Given the description of an element on the screen output the (x, y) to click on. 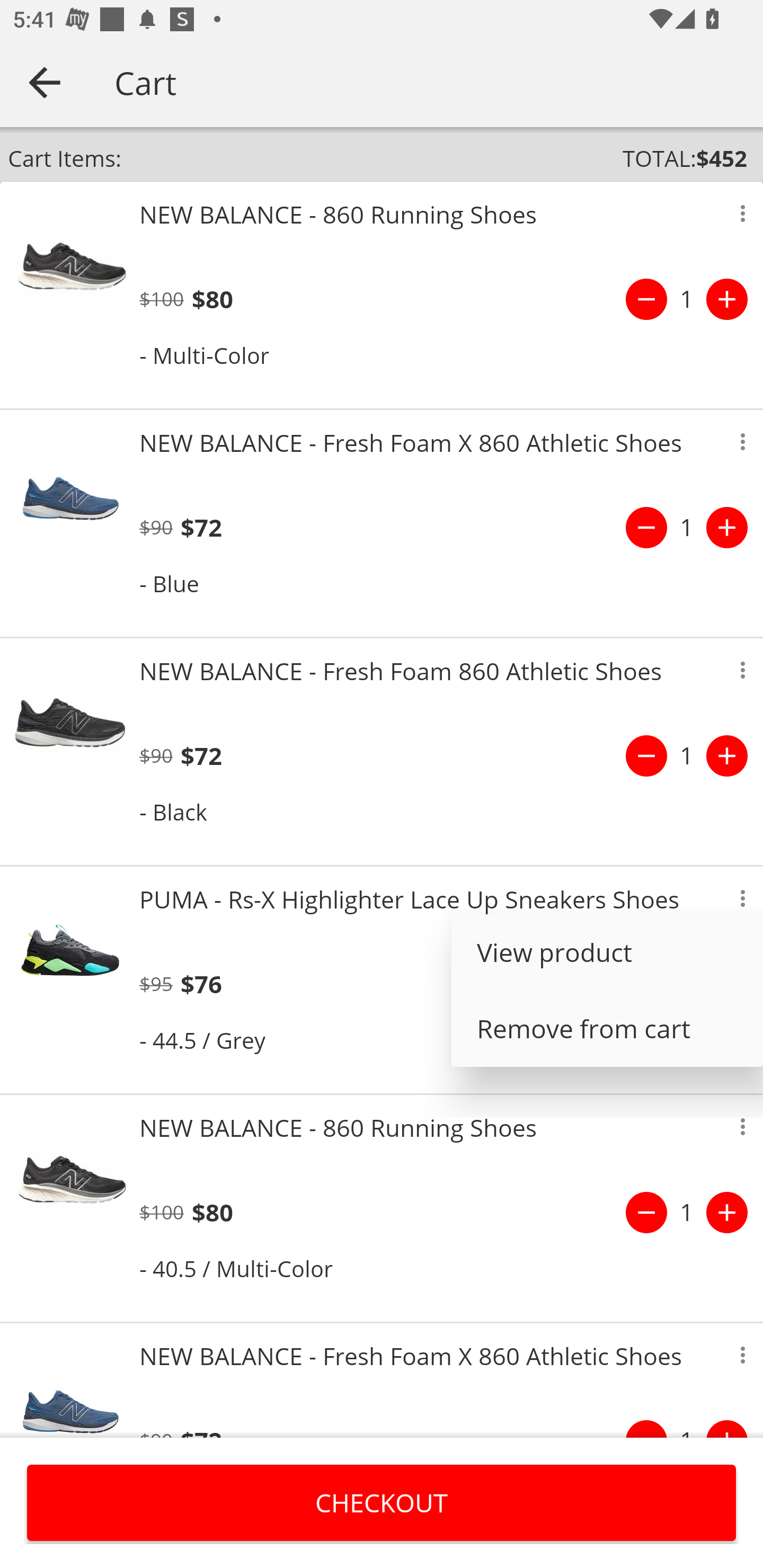
View product (607, 952)
Remove from cart (607, 1028)
